Given the description of an element on the screen output the (x, y) to click on. 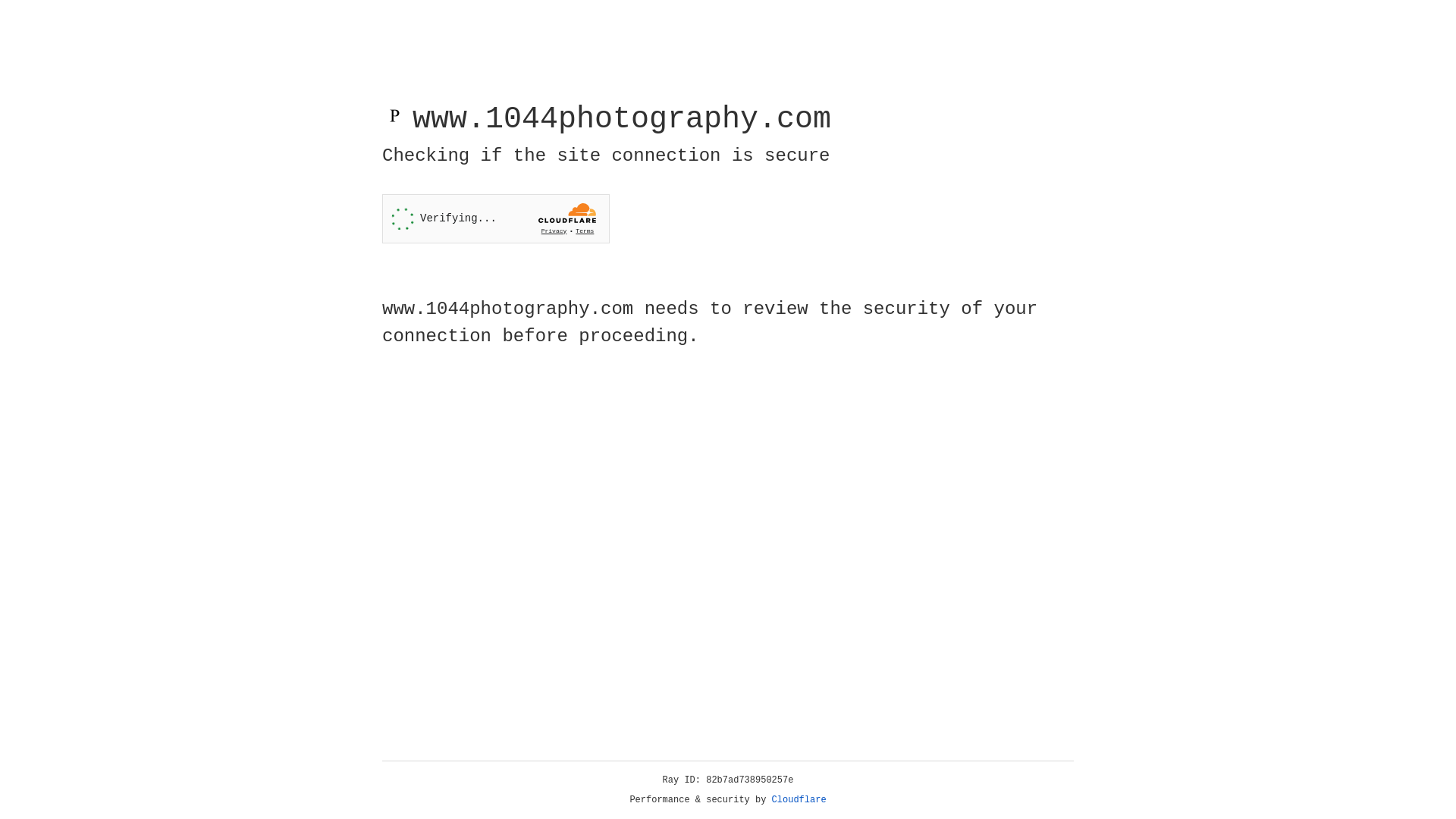
Cloudflare Element type: text (798, 799)
Widget containing a Cloudflare security challenge Element type: hover (495, 218)
